Given the description of an element on the screen output the (x, y) to click on. 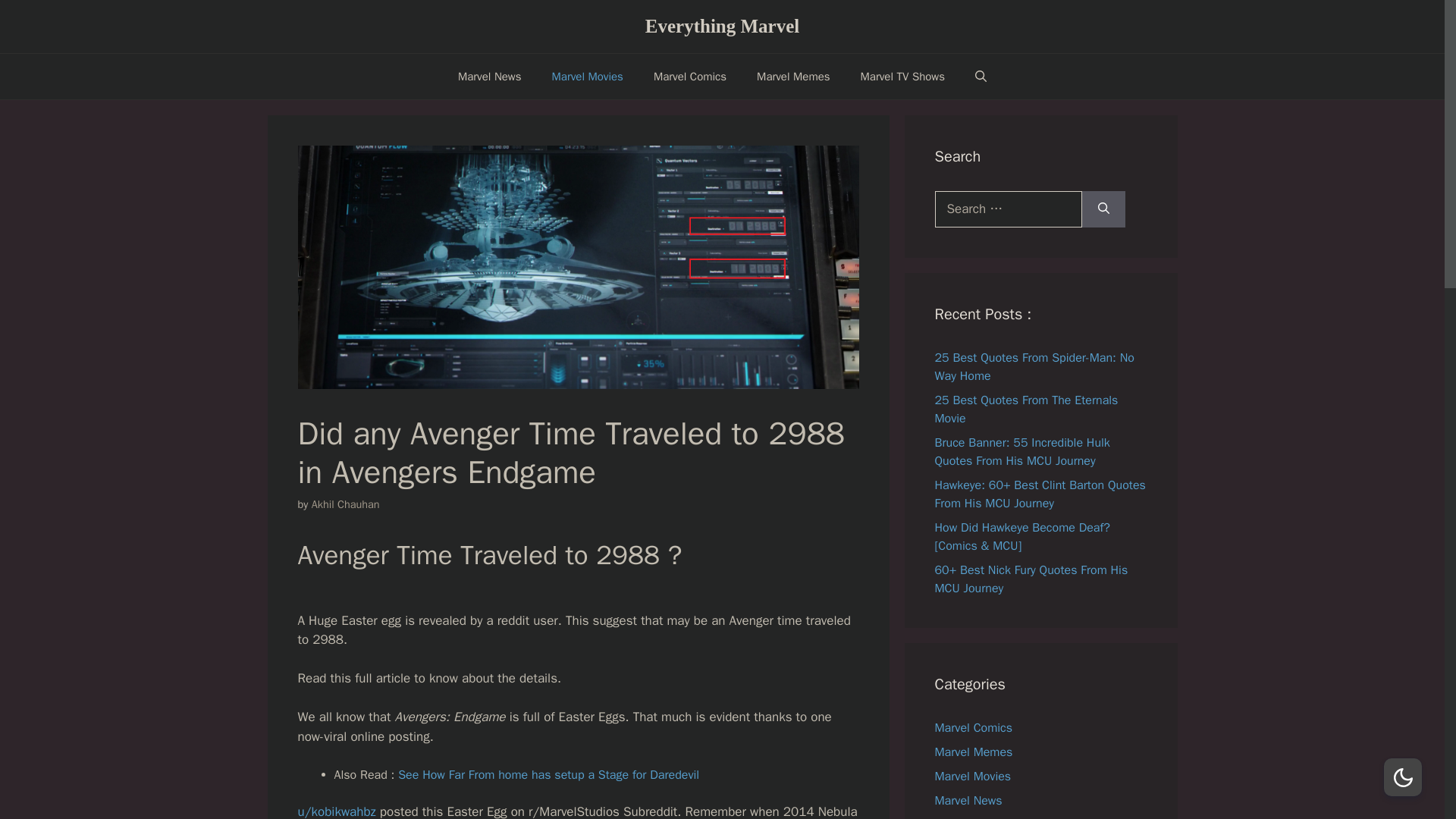
Marvel News (489, 76)
Marvel Comics (690, 76)
Search for: (1007, 208)
Marvel Comics (972, 727)
Marvel TV Shows (902, 76)
Marvel Memes (972, 752)
Everything Marvel (722, 25)
Bruce Banner: 55 Incredible Hulk Quotes From His MCU Journey (1021, 451)
25 Best Quotes From The Eternals Movie (1026, 409)
View all posts by Akhil Chauhan (345, 504)
25 Best Quotes From Spider-Man: No Way Home (1034, 367)
Marvel Movies (972, 776)
Marvel Movies (588, 76)
See How Far From home has setup a Stage for Daredevil (547, 774)
Akhil Chauhan (345, 504)
